Given the description of an element on the screen output the (x, y) to click on. 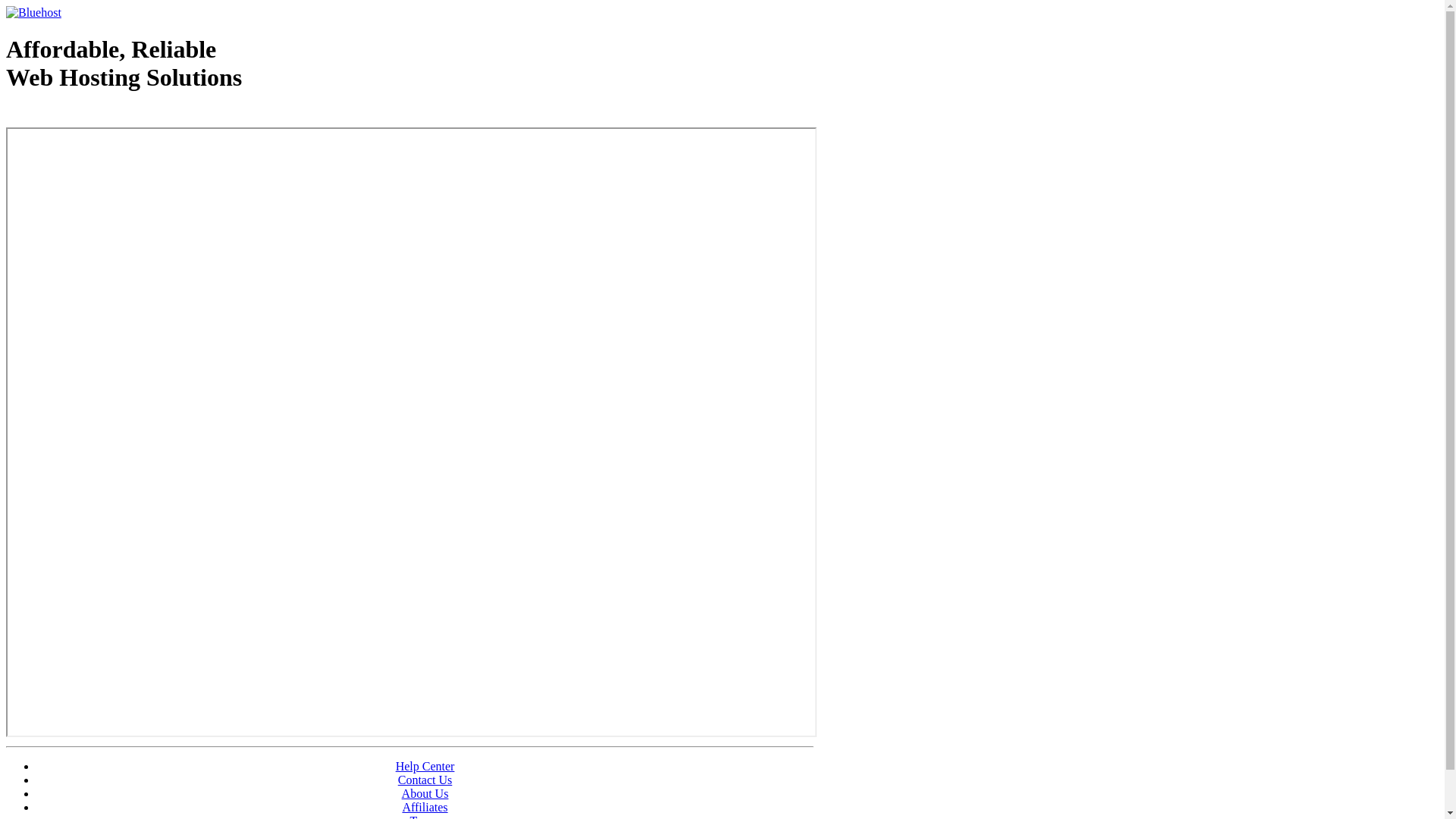
Help Center Element type: text (425, 765)
Affiliates Element type: text (424, 806)
Contact Us Element type: text (425, 779)
Web Hosting - courtesy of www.bluehost.com Element type: text (94, 115)
About Us Element type: text (424, 793)
